Given the description of an element on the screen output the (x, y) to click on. 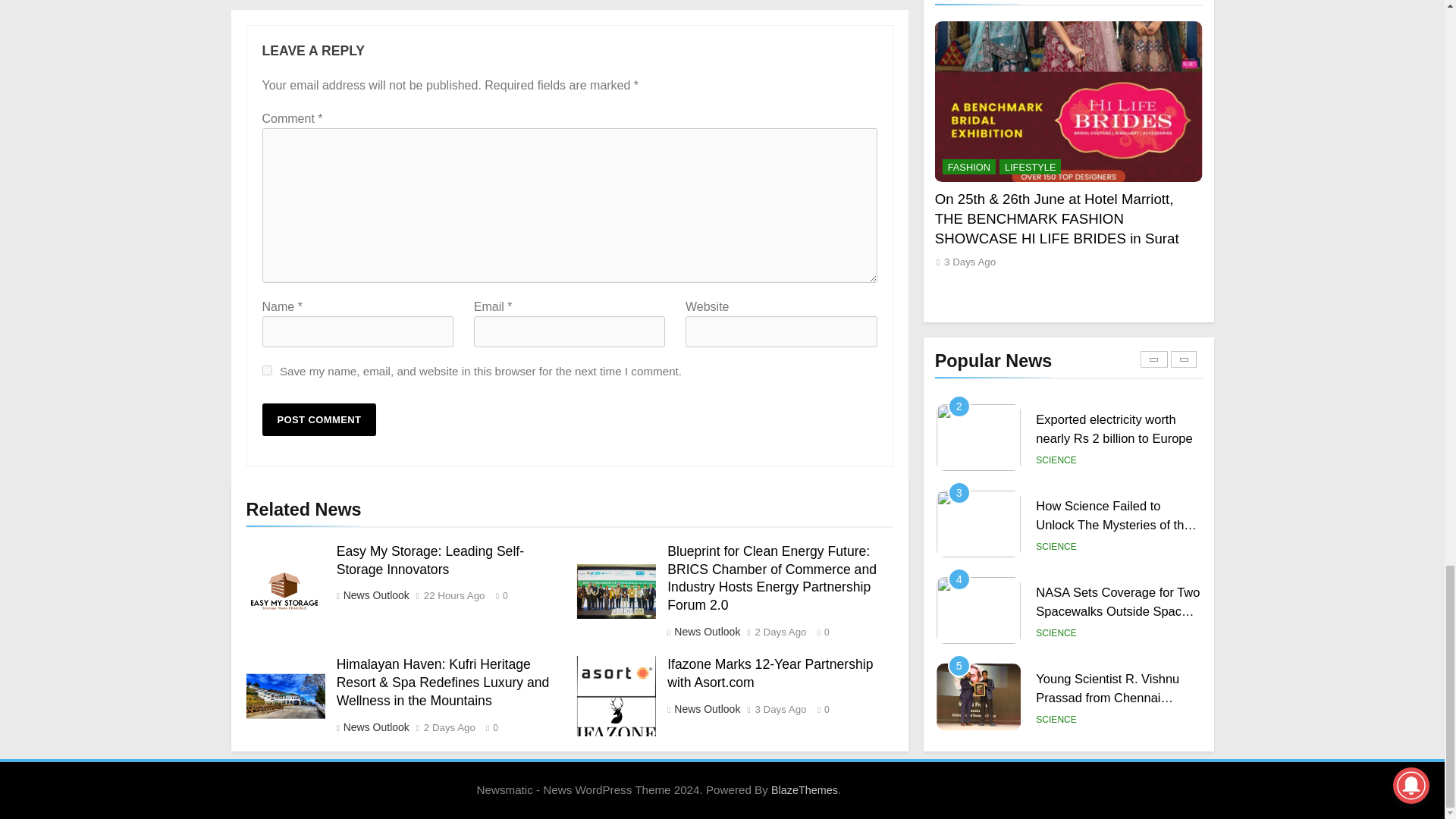
yes (267, 370)
Post Comment (319, 419)
